Given the description of an element on the screen output the (x, y) to click on. 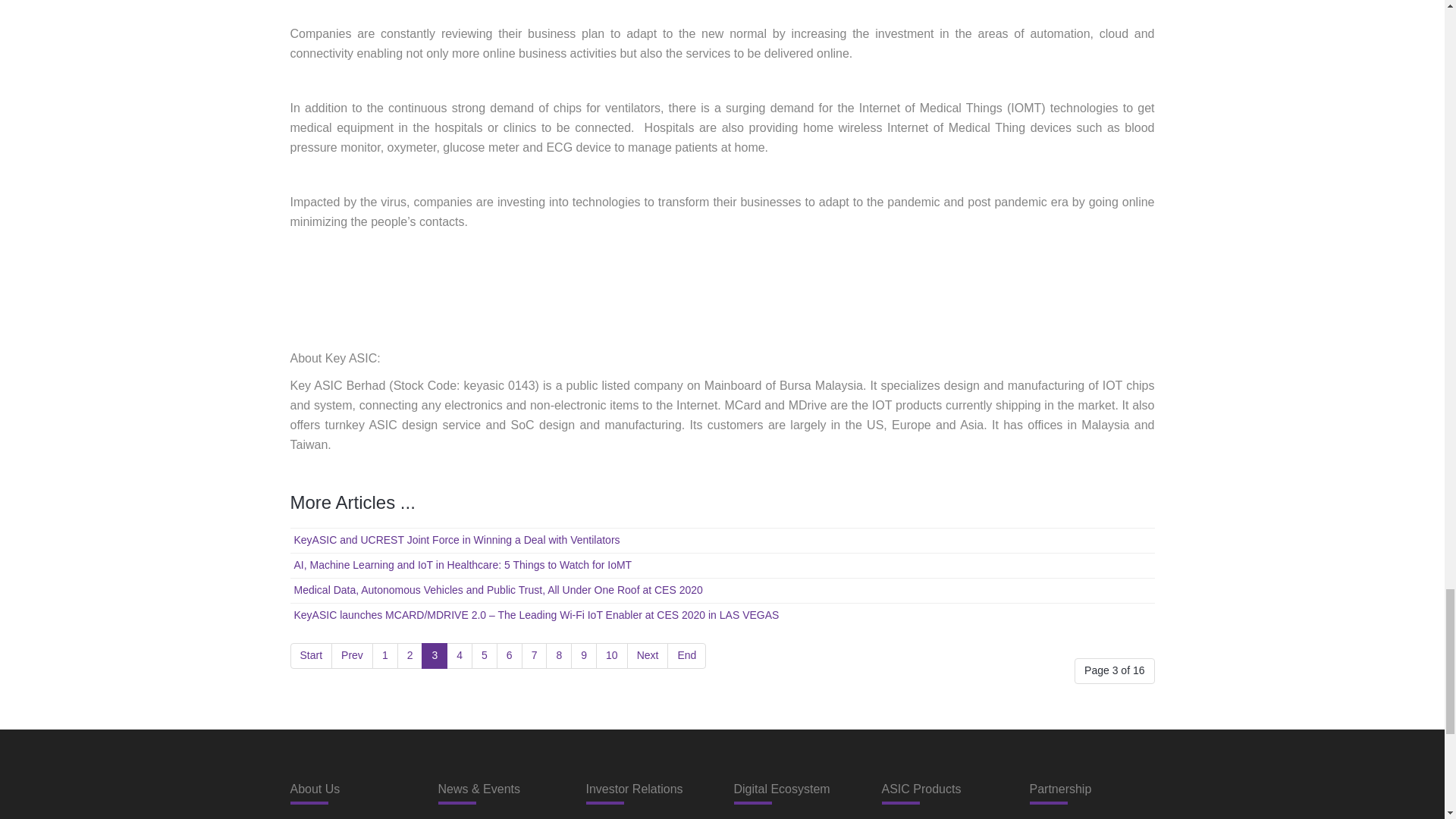
4 (458, 655)
6 (509, 655)
1 (384, 655)
Prev (351, 655)
Start (310, 655)
5 (484, 655)
2 (410, 655)
